Given the description of an element on the screen output the (x, y) to click on. 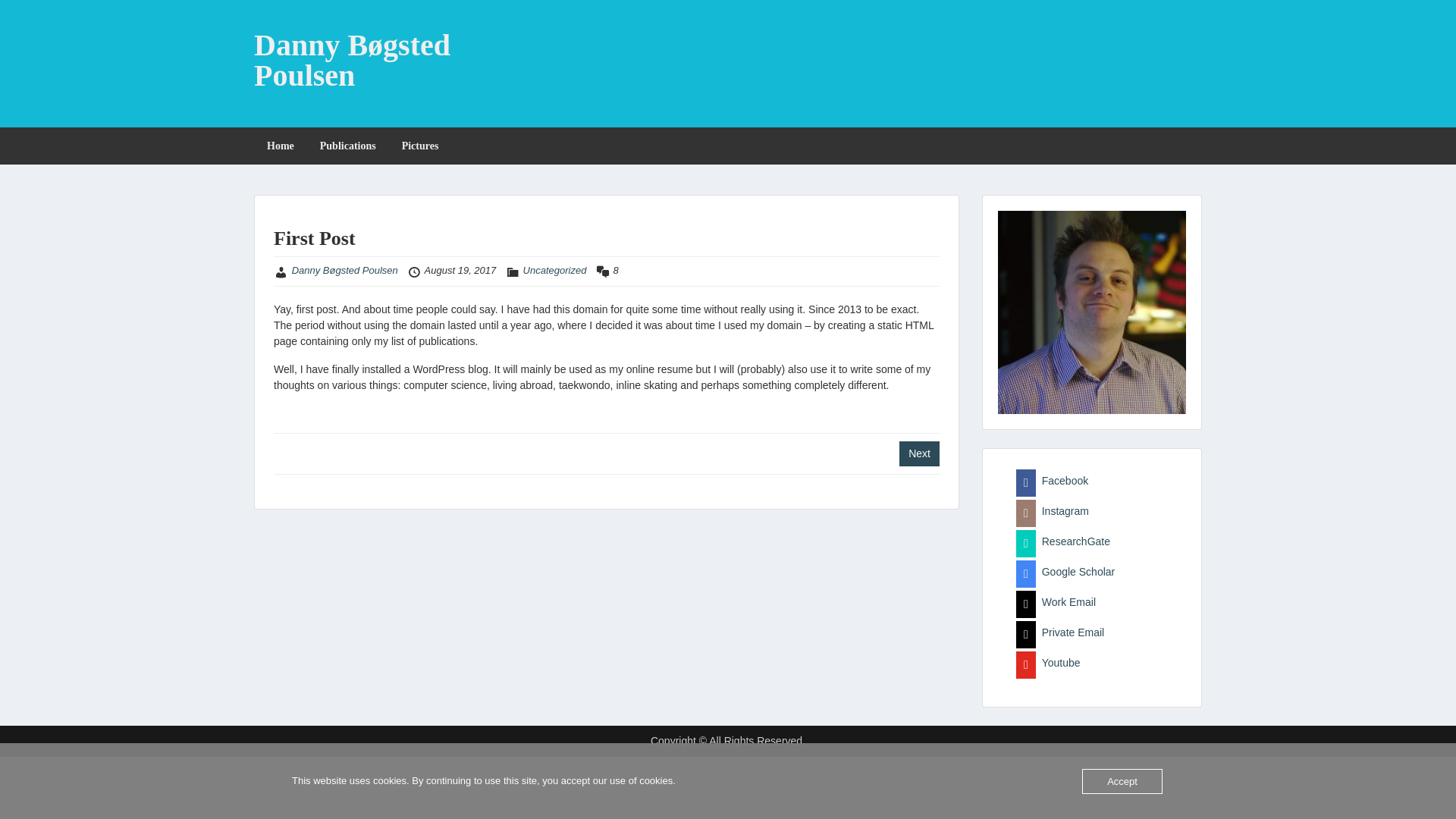
Google Scholar (1065, 571)
Instagram (1052, 510)
Pictures (419, 145)
Uncategorized (554, 270)
Home (280, 145)
Publications (347, 145)
Facebook (1051, 480)
ResearchGate (1062, 541)
Next (919, 453)
Private Email (1059, 632)
